Given the description of an element on the screen output the (x, y) to click on. 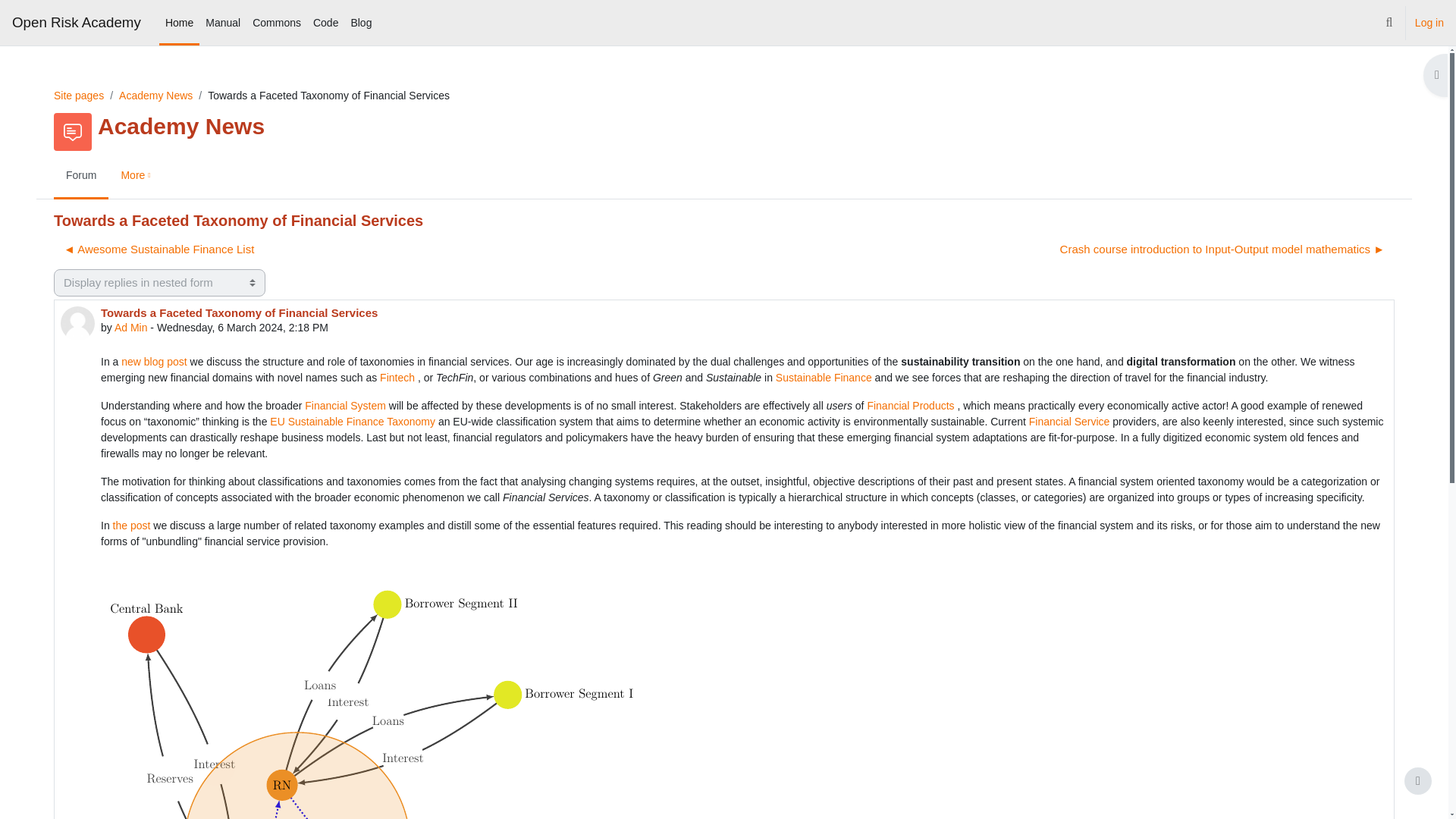
Commons (276, 22)
Academy News (155, 95)
Forum (80, 176)
new blog post (153, 361)
Ad Min (131, 327)
Sustainable Finance (824, 377)
Picture of Ad Min (77, 323)
More (137, 176)
Site pages (78, 95)
Fintech (397, 377)
